Given the description of an element on the screen output the (x, y) to click on. 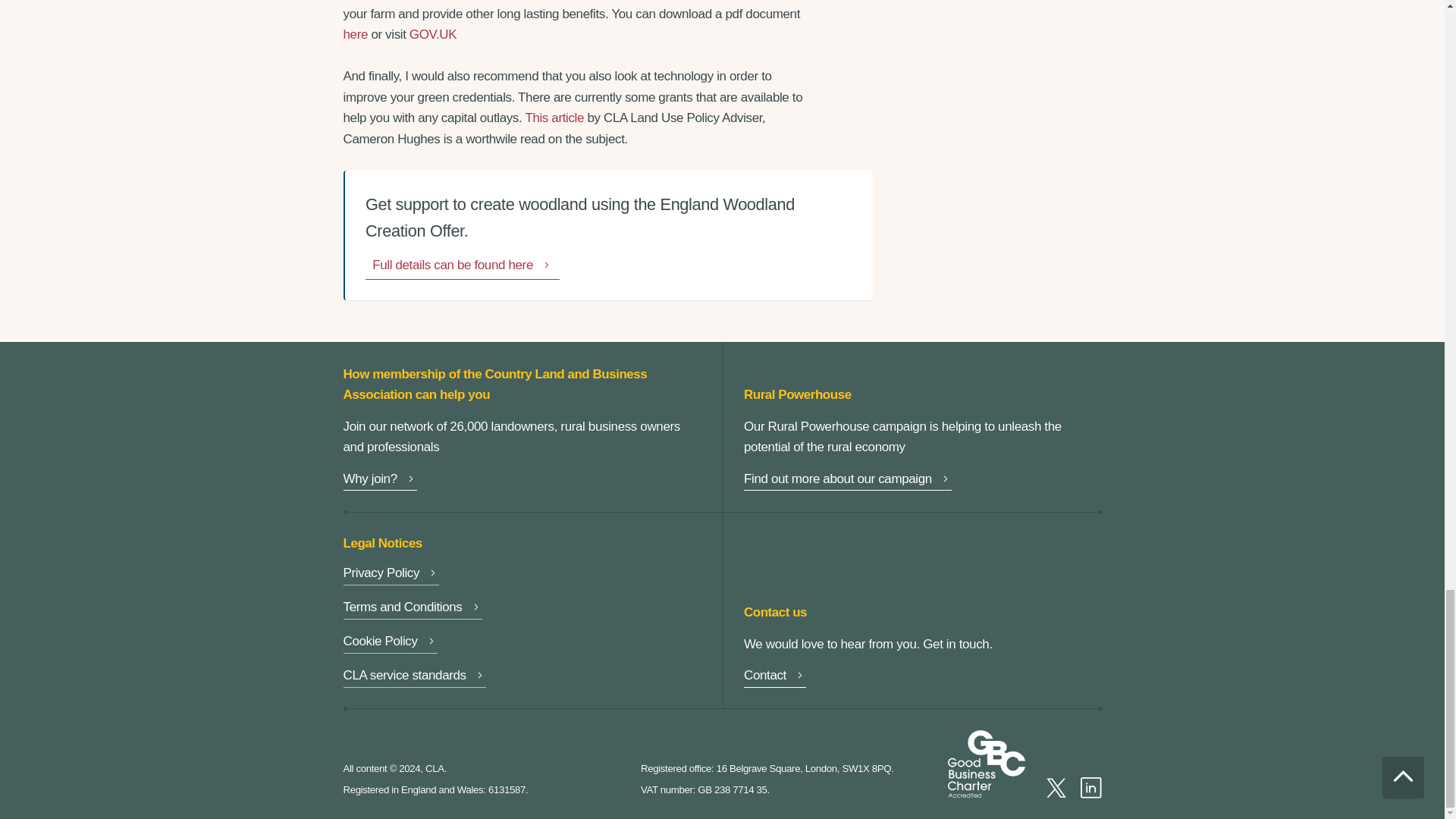
Find out more about our campaign (848, 480)
here (355, 34)
Full details can be found here (462, 267)
This article (553, 117)
Terms and Conditions (411, 608)
GOV.UK (433, 34)
Why join? (379, 480)
Privacy Policy (390, 575)
